Given the description of an element on the screen output the (x, y) to click on. 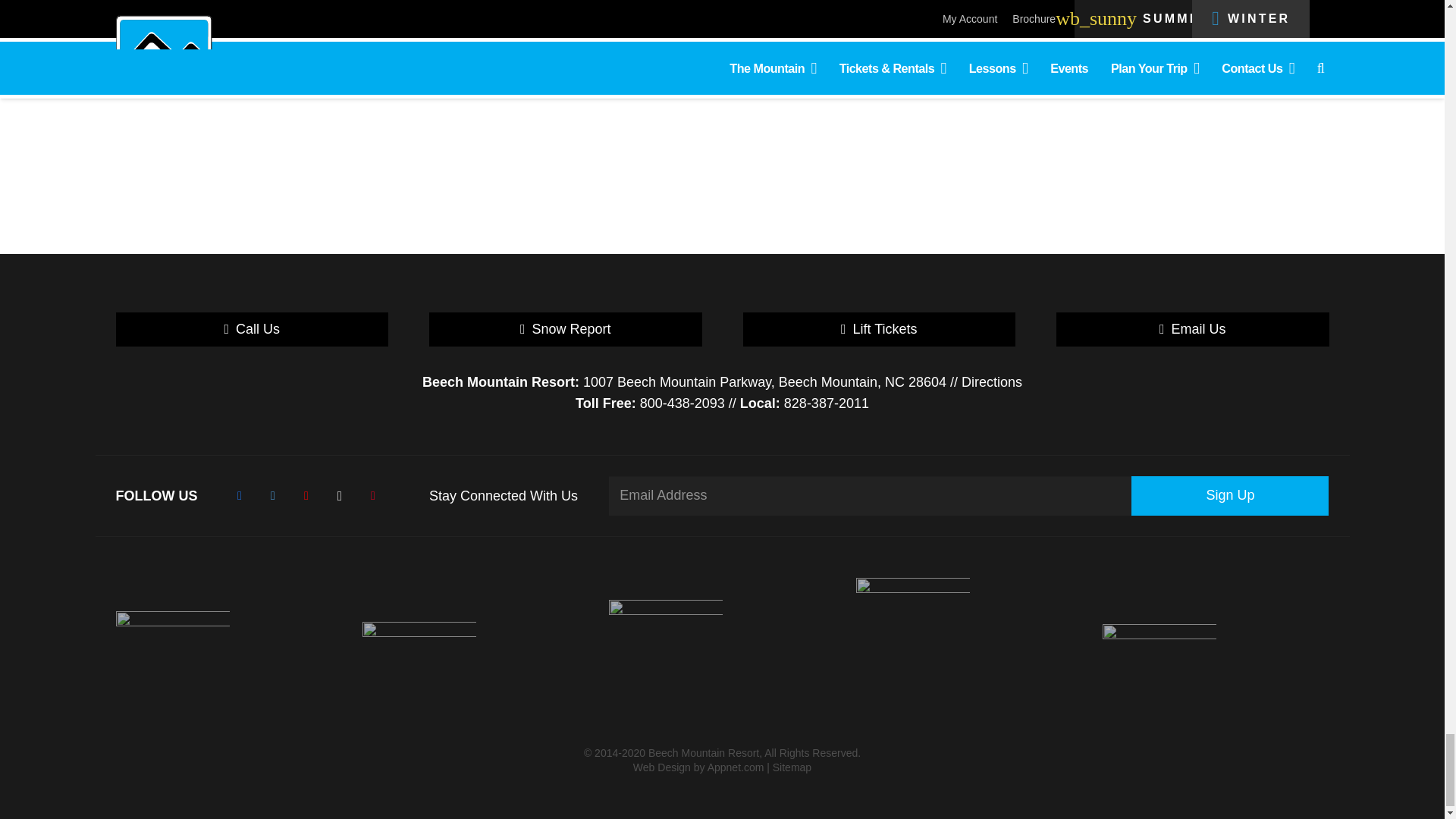
Pinterest (373, 495)
Facebook (239, 495)
Instagram (339, 495)
Twitter (272, 495)
YouTube (306, 495)
